Given the description of an element on the screen output the (x, y) to click on. 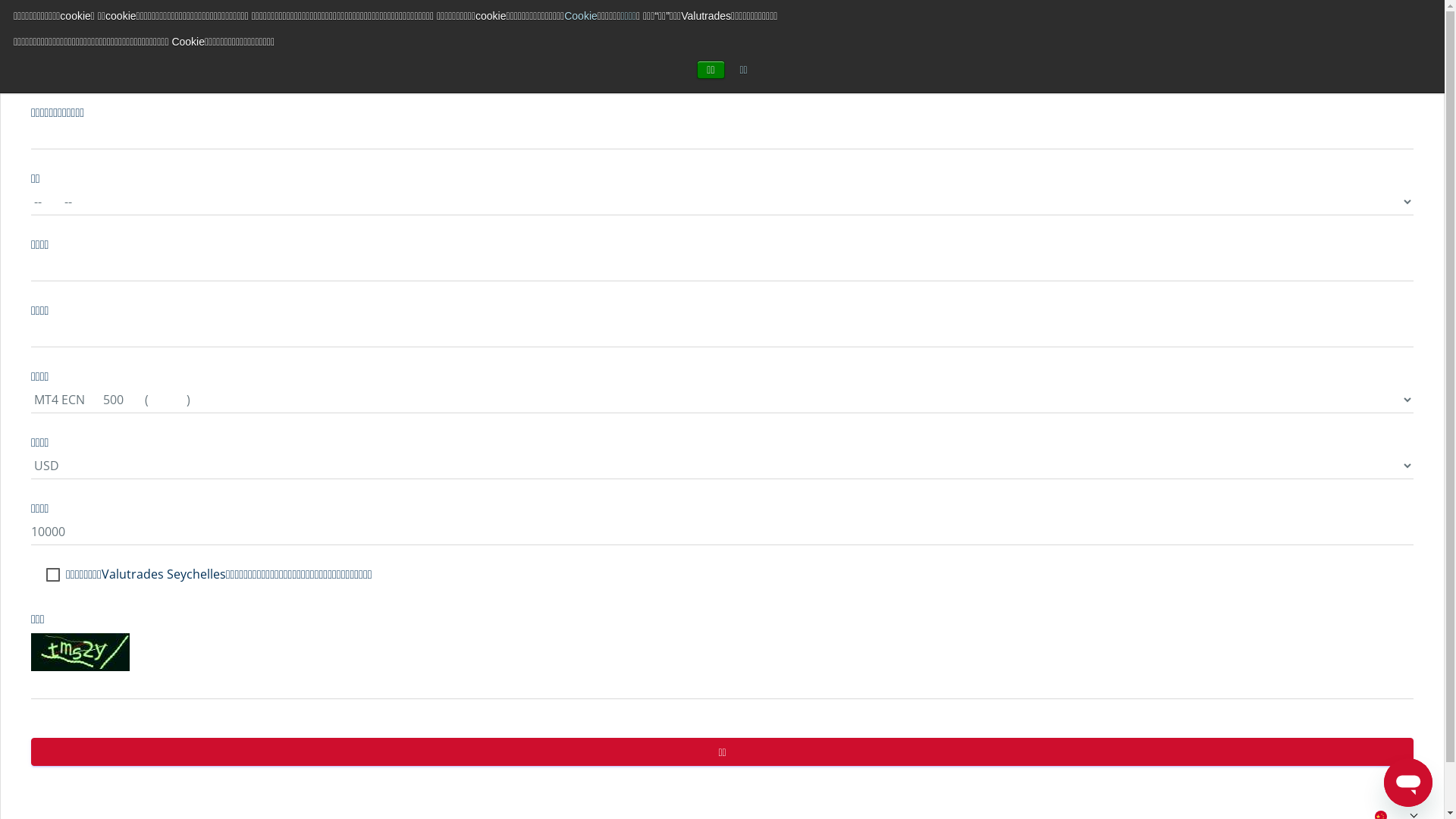
Button to launch messaging window Element type: hover (1407, 782)
captcha Element type: hover (80, 652)
Cookie Element type: text (580, 15)
